Given the description of an element on the screen output the (x, y) to click on. 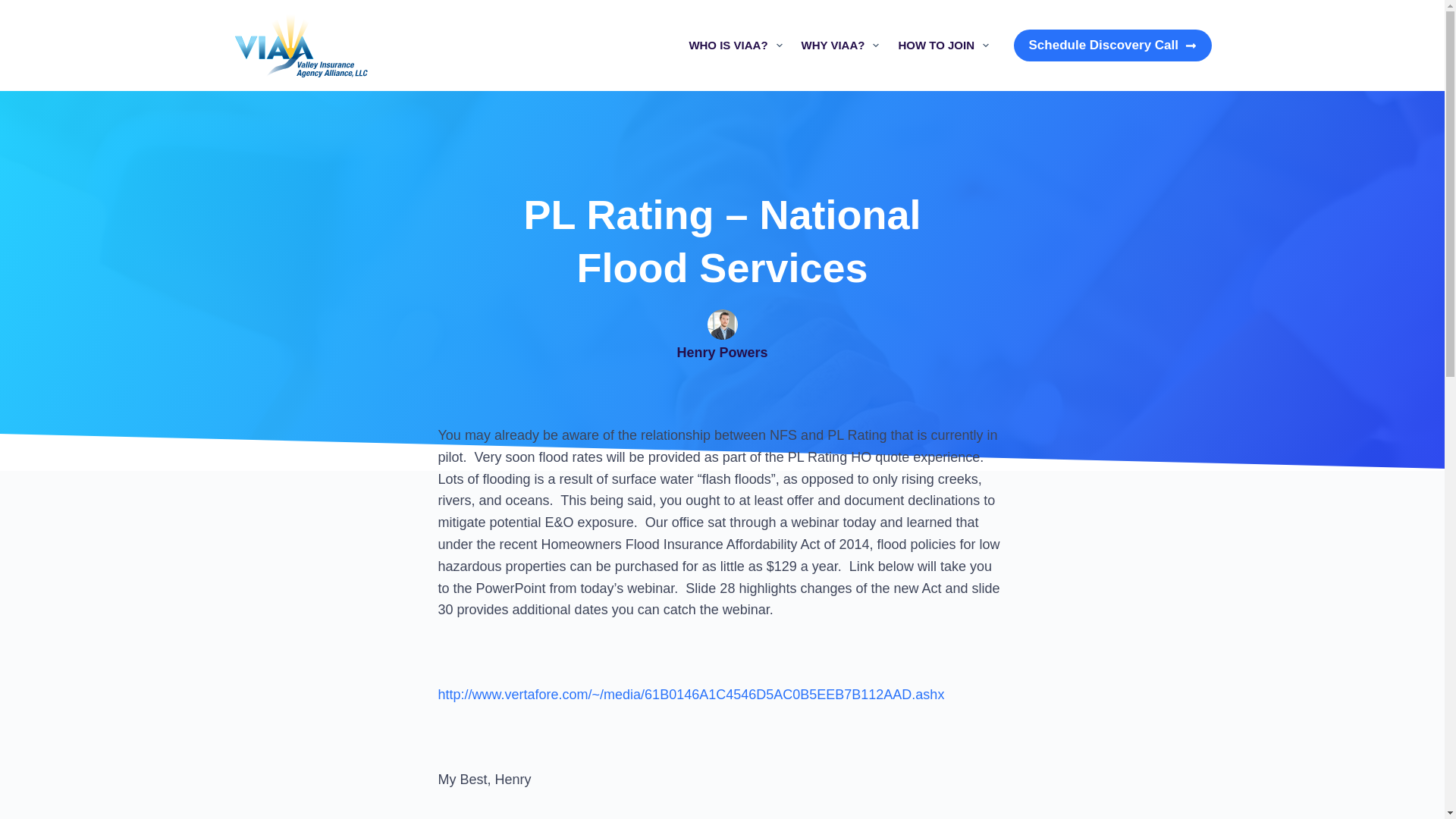
WHO IS VIAA? (735, 45)
Skip to content (15, 7)
HOW TO JOIN (943, 45)
WHY VIAA? (840, 45)
